Given the description of an element on the screen output the (x, y) to click on. 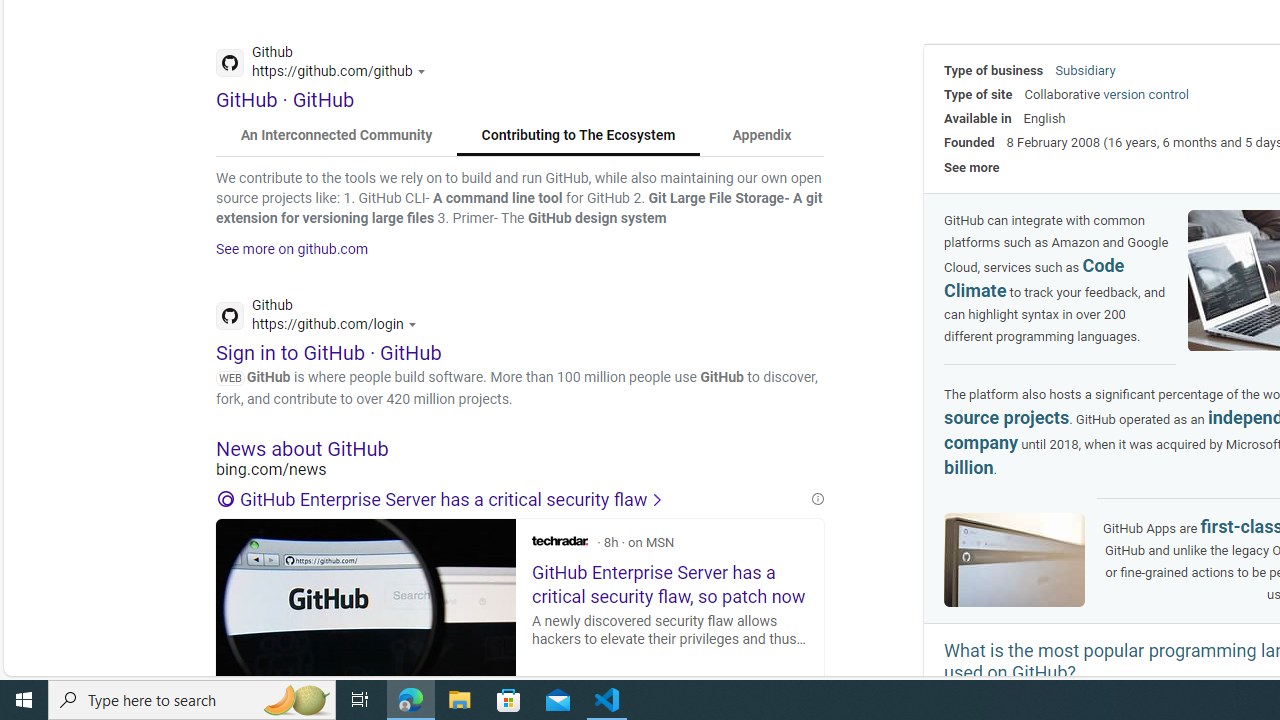
Founded (969, 142)
bing.com/news (520, 469)
Github (321, 317)
Type of site (978, 94)
Type of business (994, 70)
Contributing to The Ecosystem (578, 135)
Global web icon (229, 316)
Image of GitHub (1014, 559)
Available in (978, 117)
An Interconnected Community (337, 135)
version control (1146, 94)
